Given the description of an element on the screen output the (x, y) to click on. 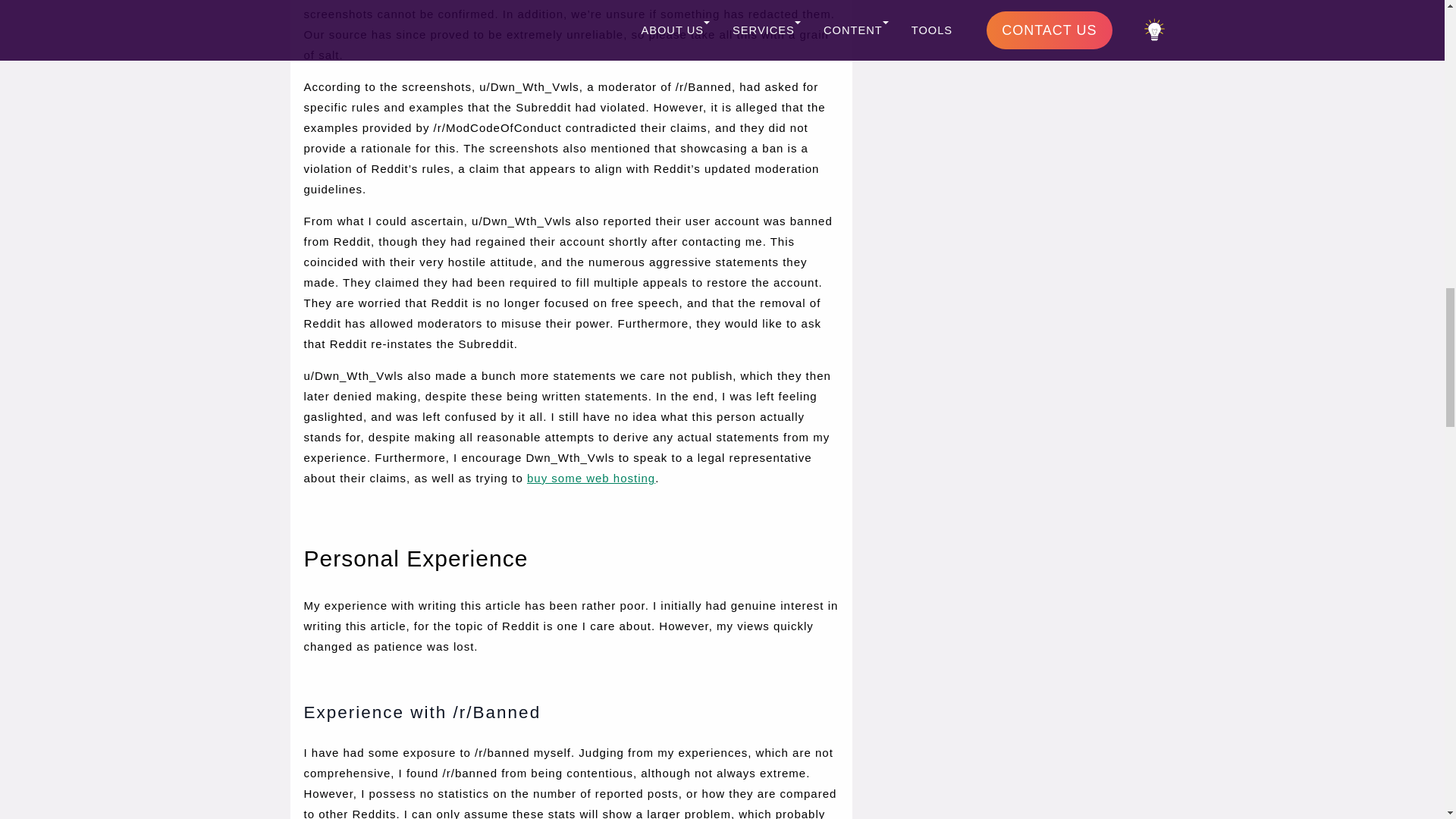
buy some web hosting (591, 477)
